Given the description of an element on the screen output the (x, y) to click on. 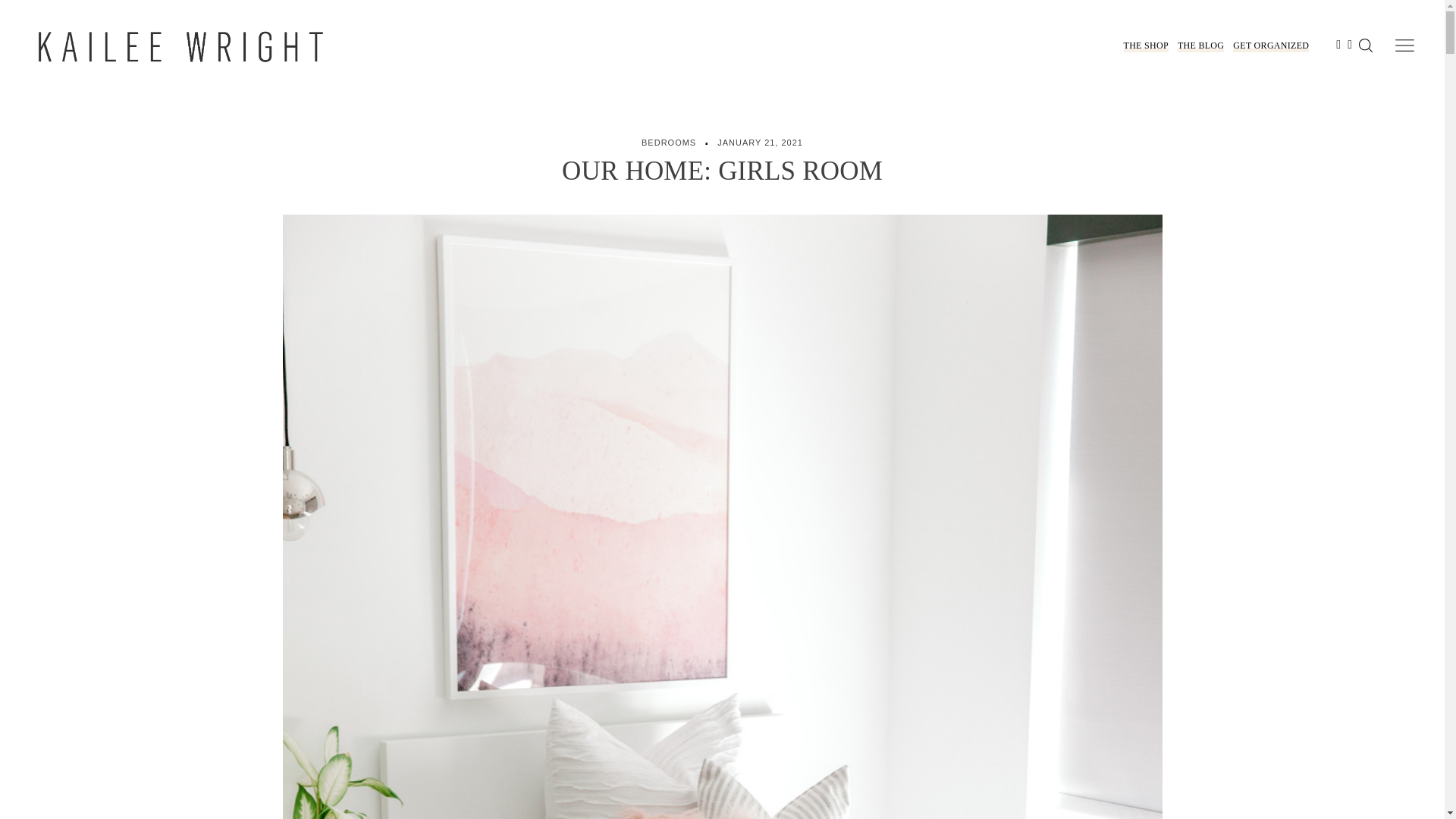
THE SHOP (1146, 45)
THE BLOG (1200, 45)
BEDROOMS (668, 142)
GET ORGANIZED (1270, 45)
